Given the description of an element on the screen output the (x, y) to click on. 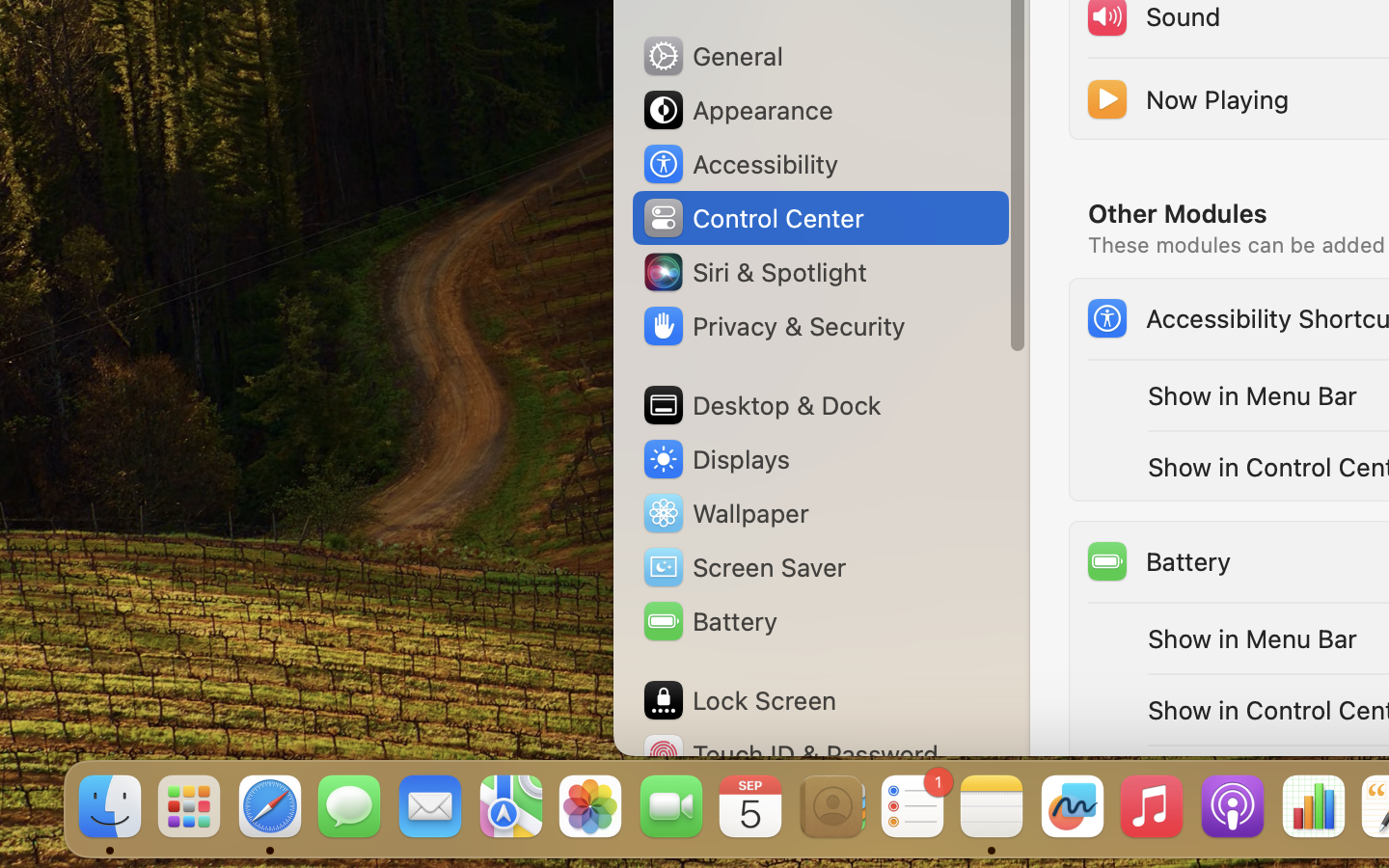
Touch ID & Password Element type: AXStaticText (789, 754)
Siri & Spotlight Element type: AXStaticText (753, 271)
Privacy & Security Element type: AXStaticText (772, 325)
Show in Menu Bar Element type: AXStaticText (1252, 394)
General Element type: AXStaticText (711, 55)
